Given the description of an element on the screen output the (x, y) to click on. 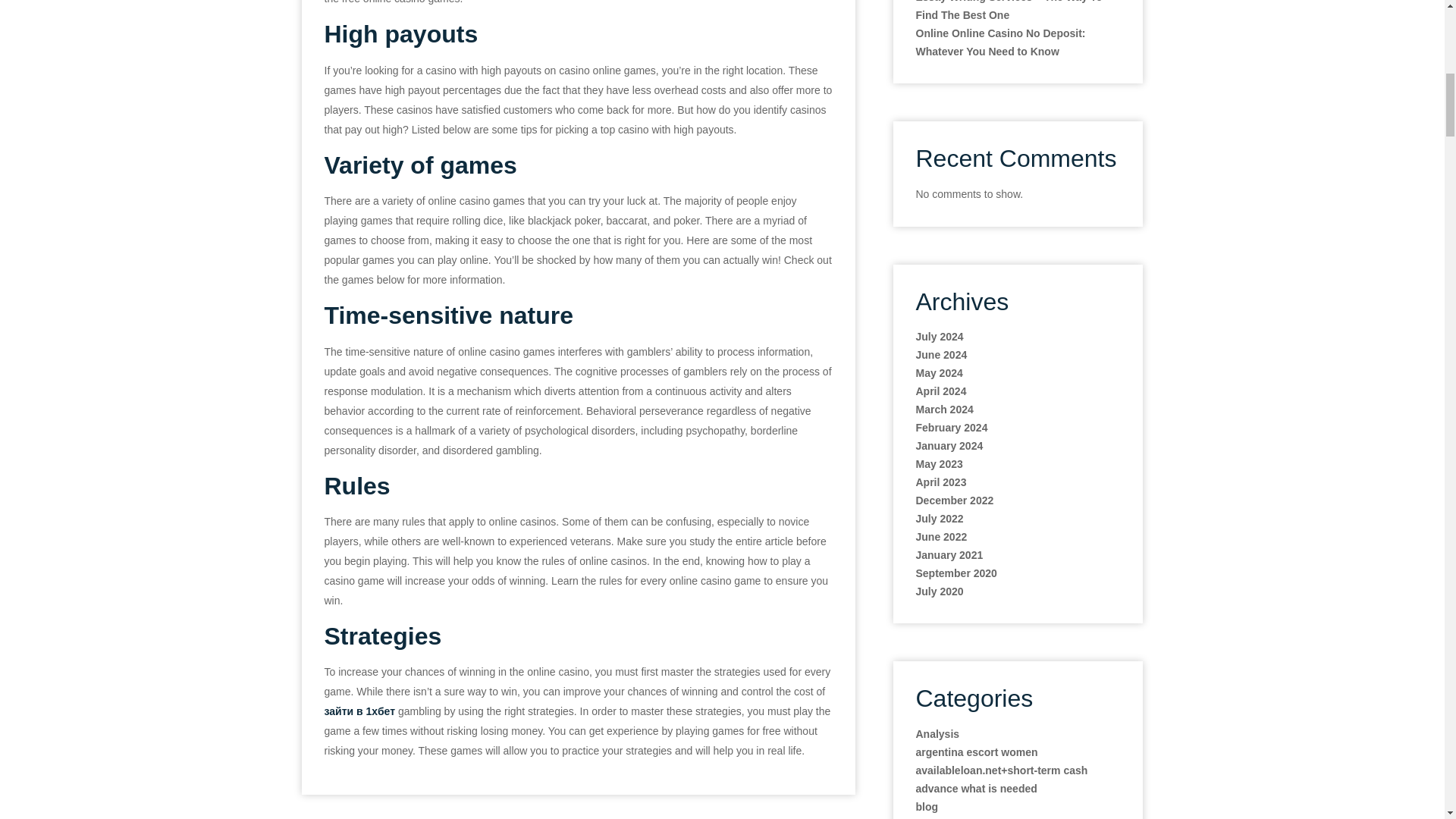
February 2024 (951, 427)
July 2024 (939, 336)
April 2023 (940, 481)
June 2022 (941, 536)
May 2023 (938, 463)
September 2020 (956, 573)
March 2024 (944, 409)
June 2024 (941, 354)
July 2022 (949, 554)
January 2024 (939, 518)
Online Online Casino No Deposit: Whatever You Need to Know (949, 445)
July 2020 (1000, 42)
April 2024 (939, 591)
